Given the description of an element on the screen output the (x, y) to click on. 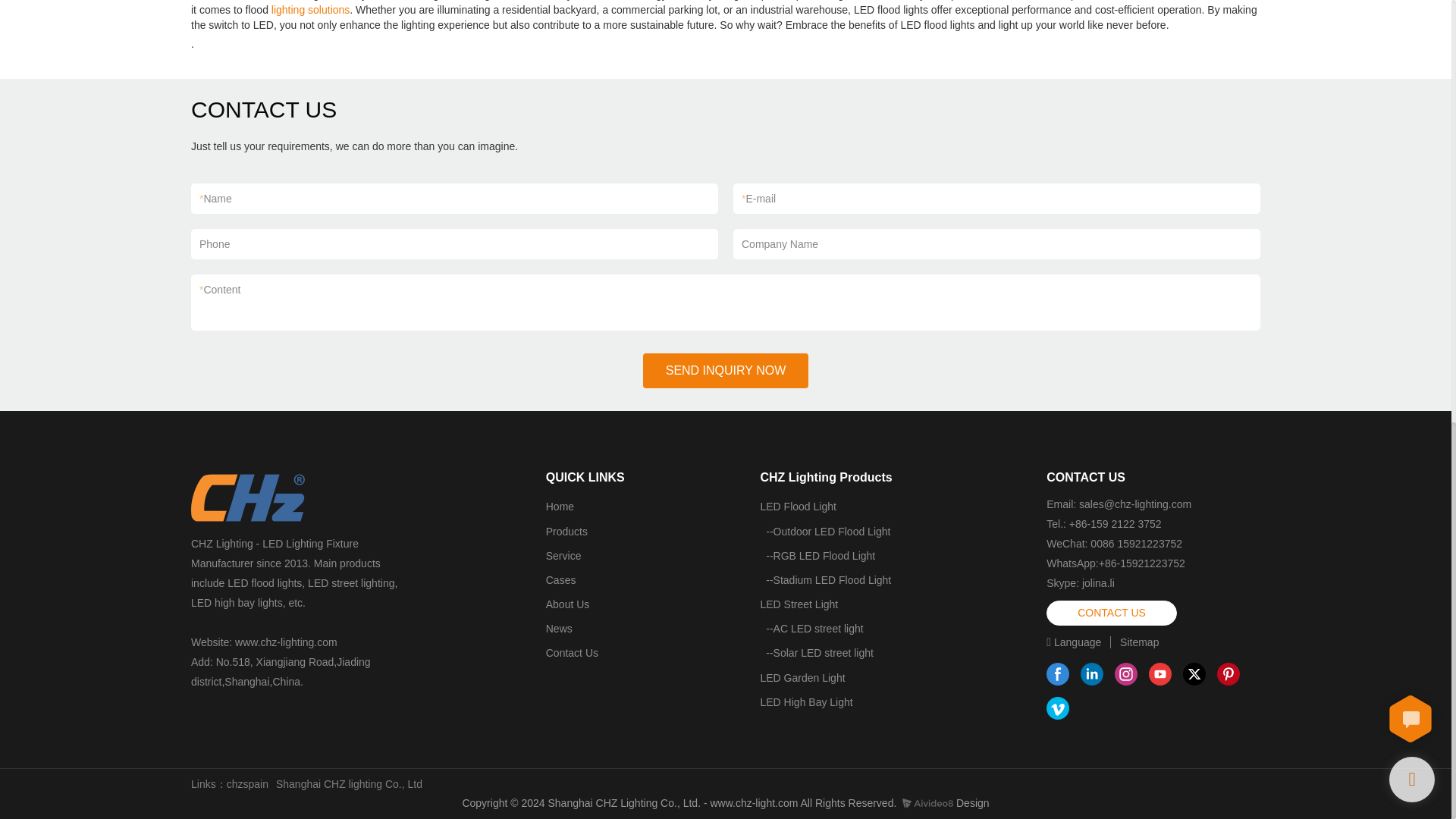
SEND INQUIRY NOW (726, 370)
lighting solutions (310, 9)
lighting solutions (310, 9)
